Given the description of an element on the screen output the (x, y) to click on. 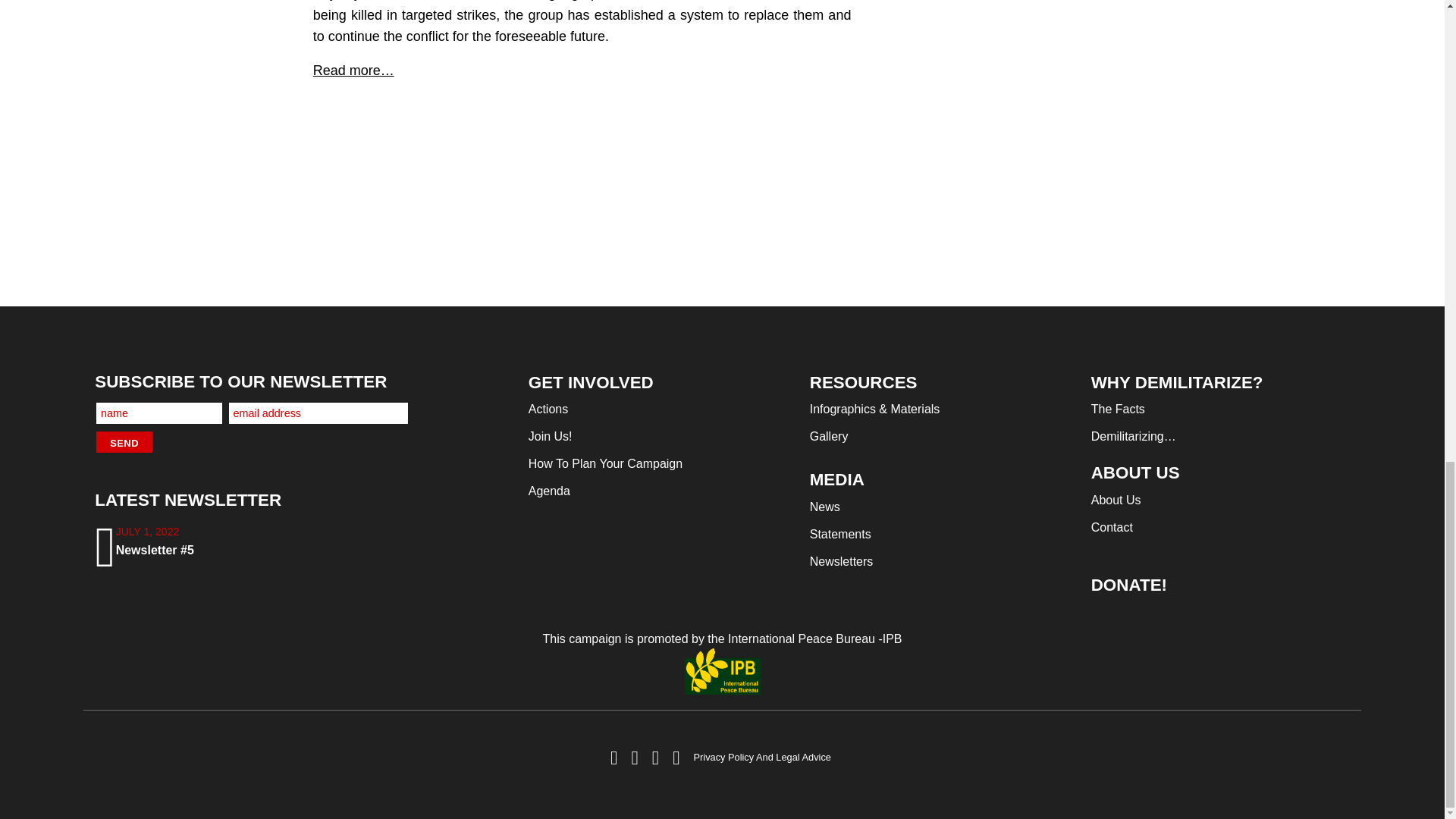
send (124, 441)
